Given the description of an element on the screen output the (x, y) to click on. 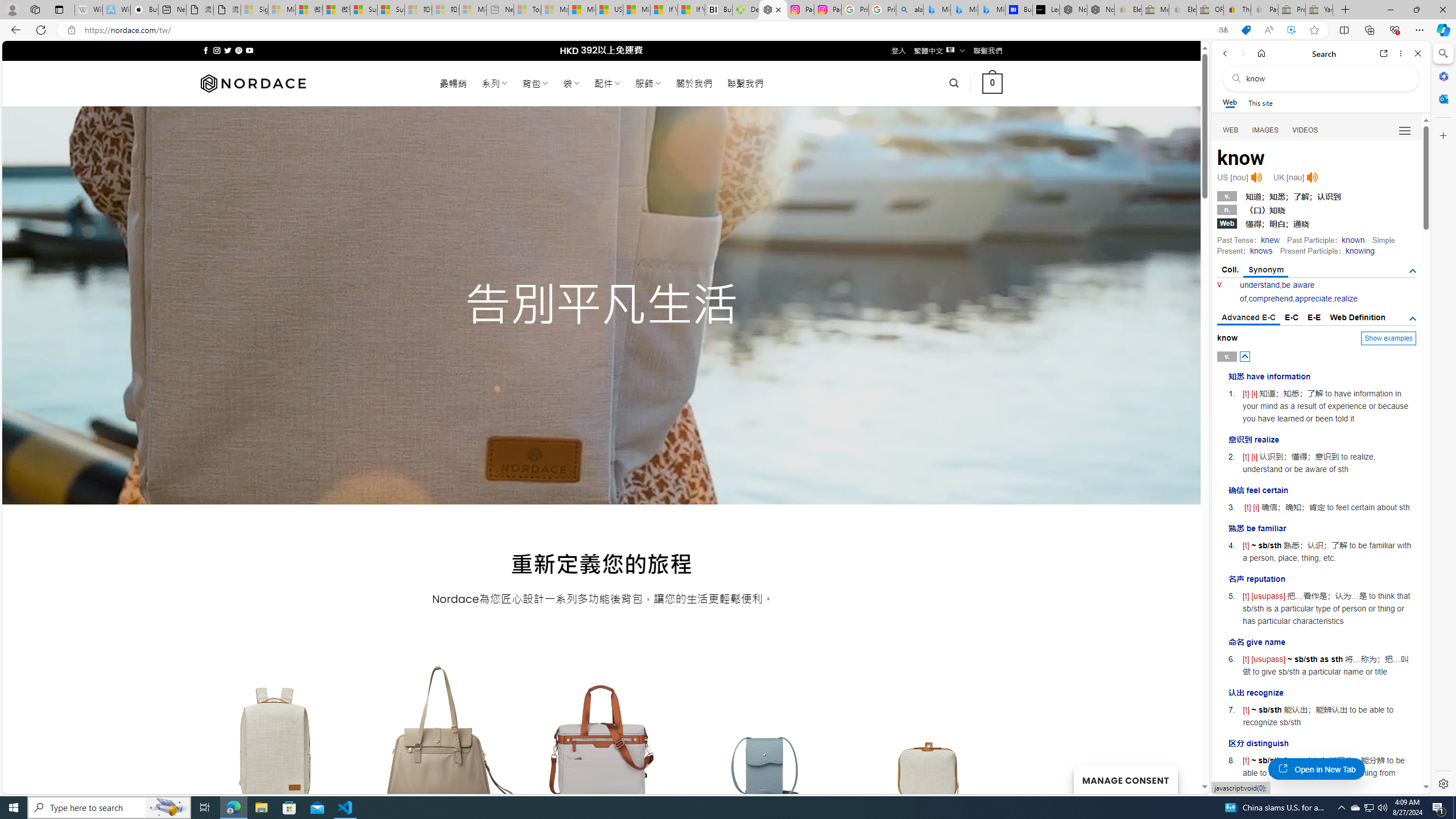
US Heat Deaths Soared To Record High Last Year (609, 9)
understand (1259, 284)
